Given the description of an element on the screen output the (x, y) to click on. 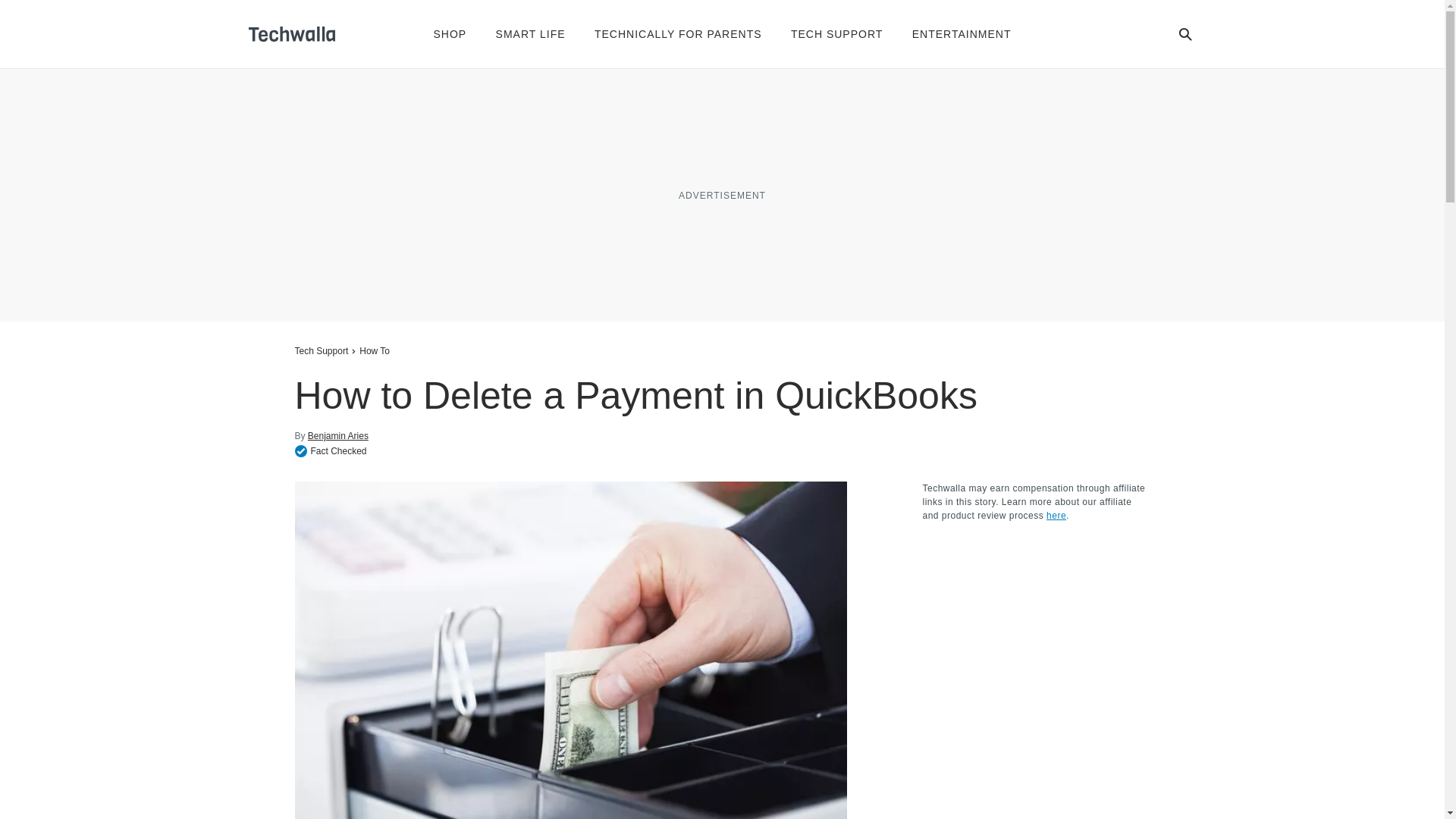
Tech Support (320, 350)
Learn more about our affiliate and product review process (1055, 515)
Benjamin Aries (337, 435)
How To (374, 350)
Fact Checked (330, 450)
